Given the description of an element on the screen output the (x, y) to click on. 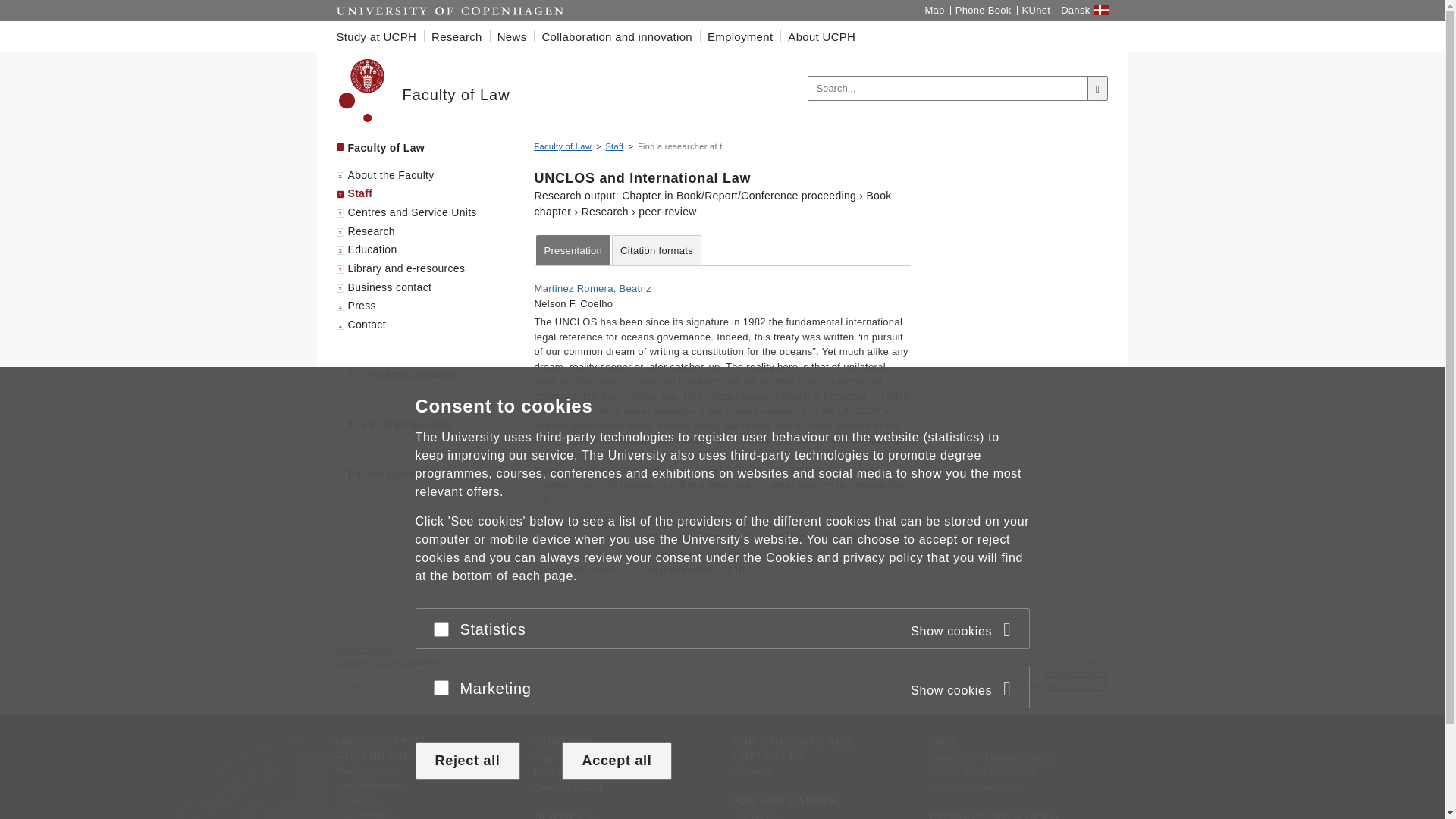
Phone number (1034, 686)
Start (450, 10)
Staff at the Faculty of Law (614, 145)
